Given the description of an element on the screen output the (x, y) to click on. 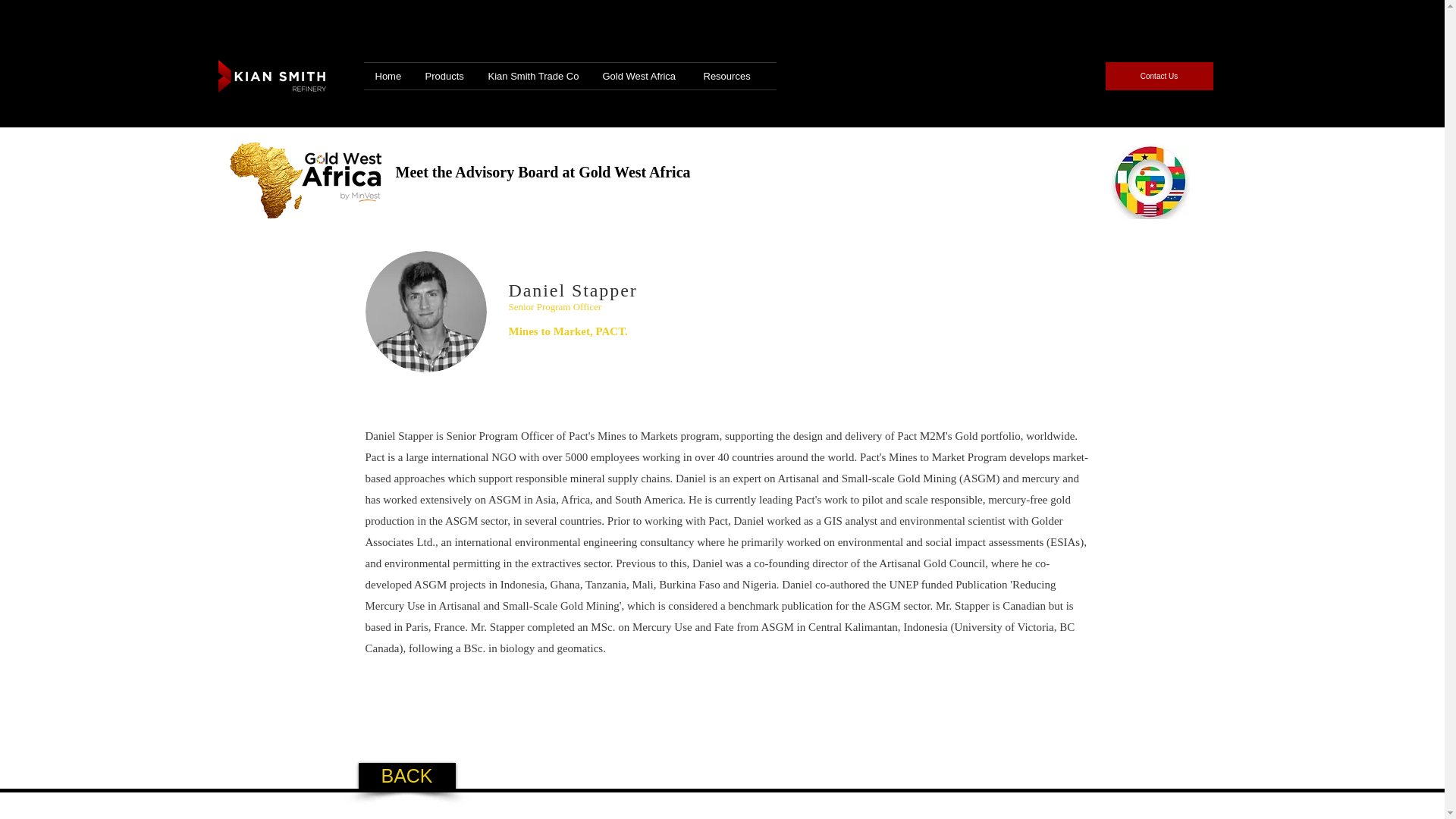
Contact Us (1158, 76)
Home (388, 76)
BACK (406, 775)
Products (445, 76)
Kian Smith Trade Co (533, 76)
Gold West Africa (642, 76)
